Given the description of an element on the screen output the (x, y) to click on. 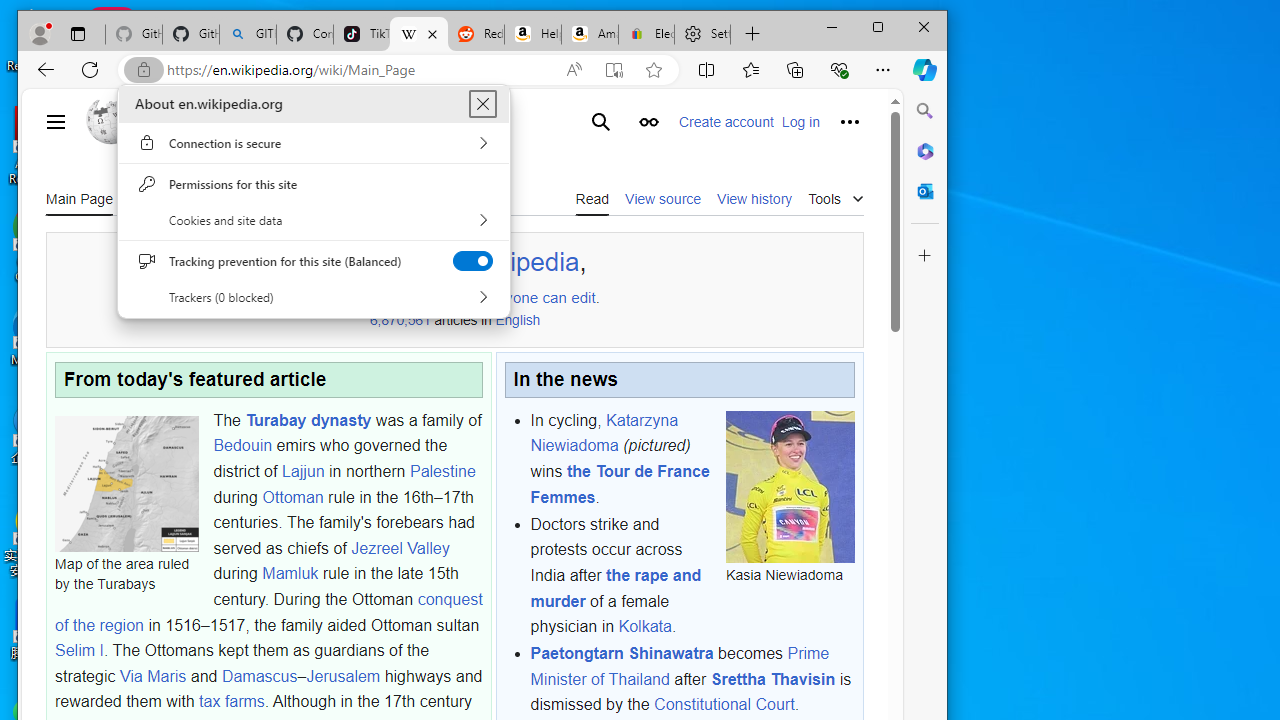
Jerusalem (343, 675)
Amazon.com: Deals (589, 34)
tax farms (231, 701)
Wikipedia, the free encyclopedia (418, 34)
View source (662, 197)
